Given the description of an element on the screen output the (x, y) to click on. 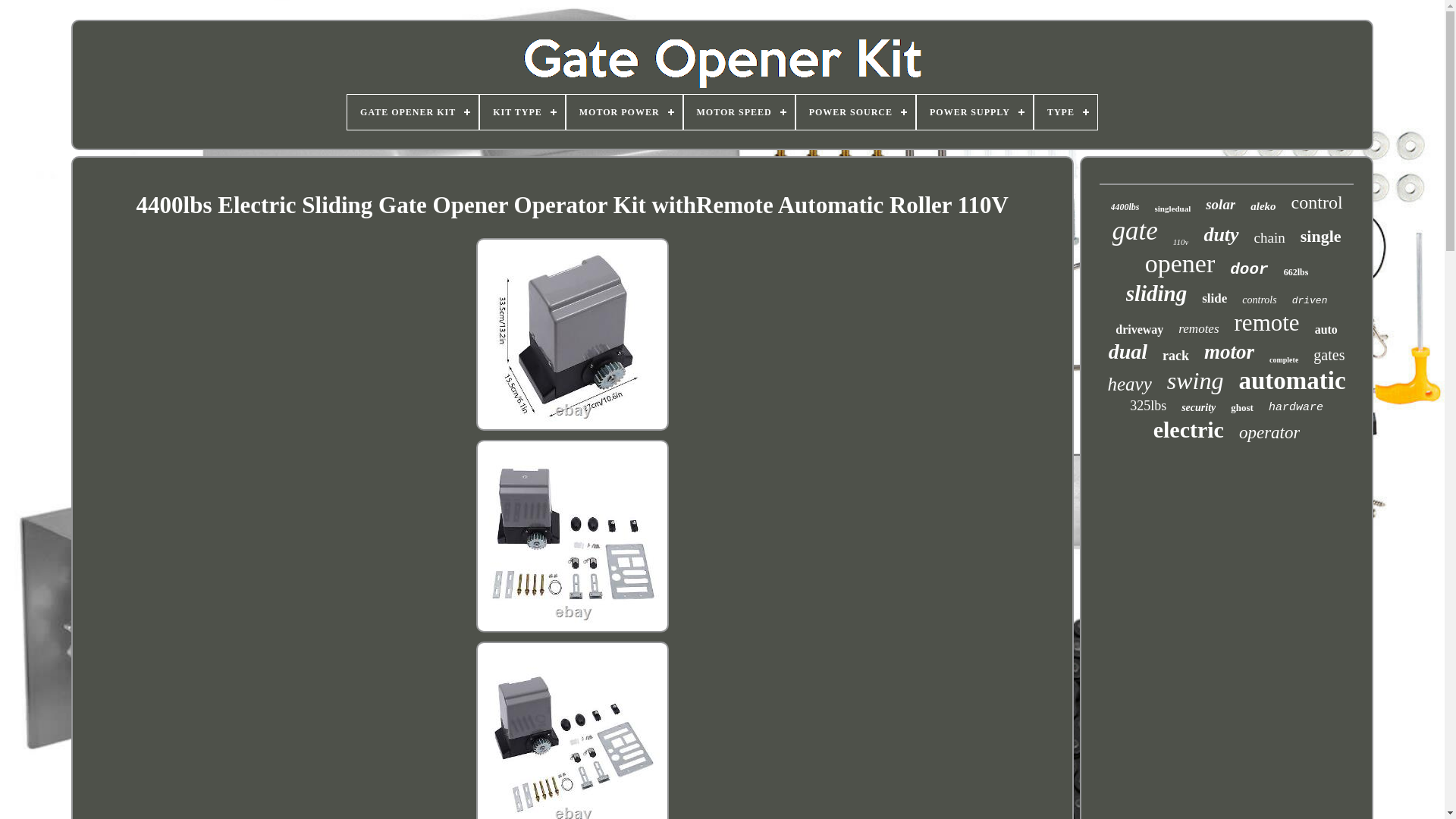
MOTOR SPEED (739, 112)
KIT TYPE (522, 112)
MOTOR POWER (624, 112)
GATE OPENER KIT (413, 112)
